Given the description of an element on the screen output the (x, y) to click on. 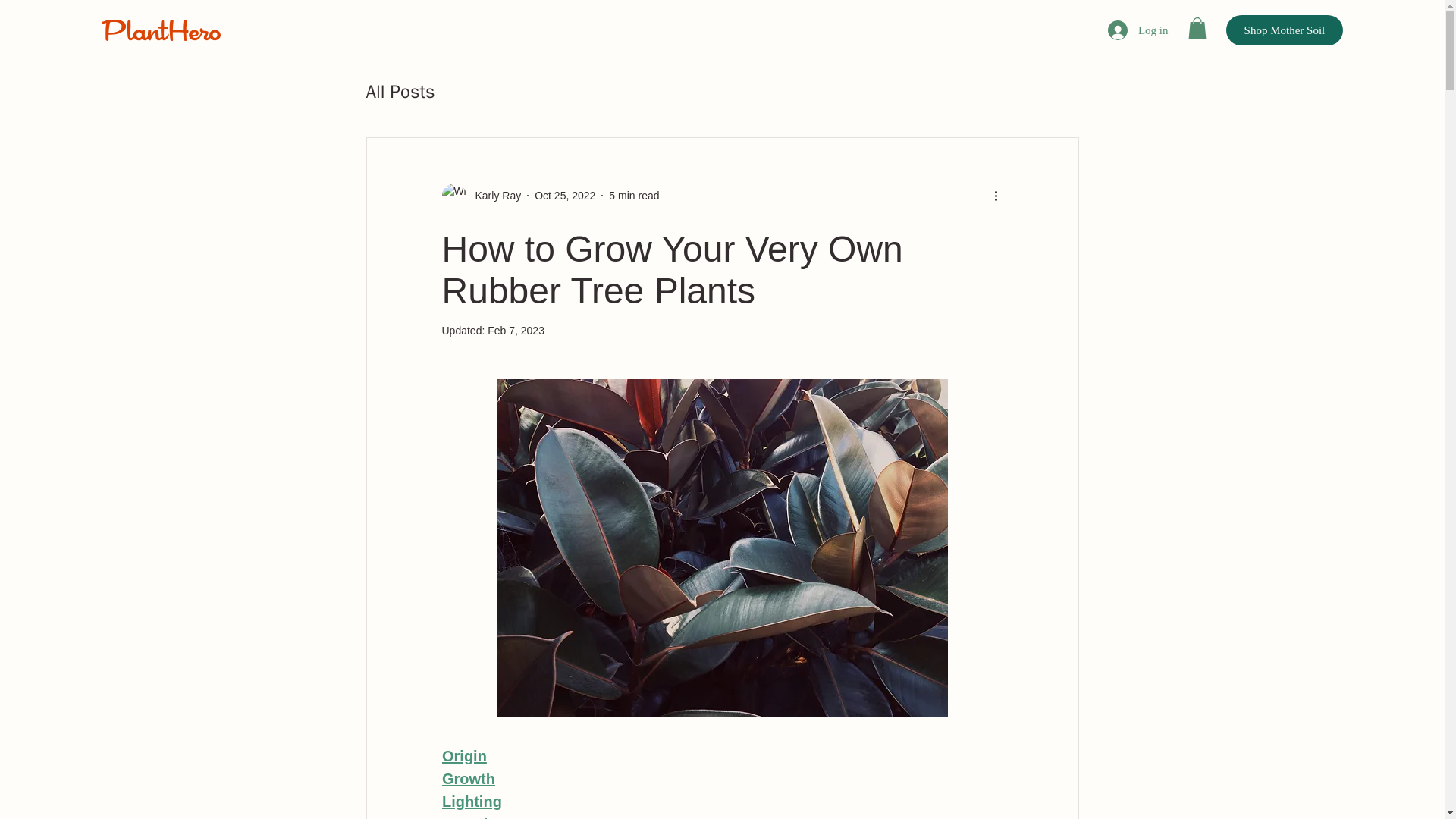
Growth (468, 779)
Origin (463, 757)
Shop Mother Soil (1283, 30)
Oct 25, 2022 (564, 195)
Karly Ray (493, 195)
Lighting (470, 802)
5 min read (633, 195)
Karly Ray (481, 195)
Feb 7, 2023 (515, 330)
Log in (1135, 30)
